Given the description of an element on the screen output the (x, y) to click on. 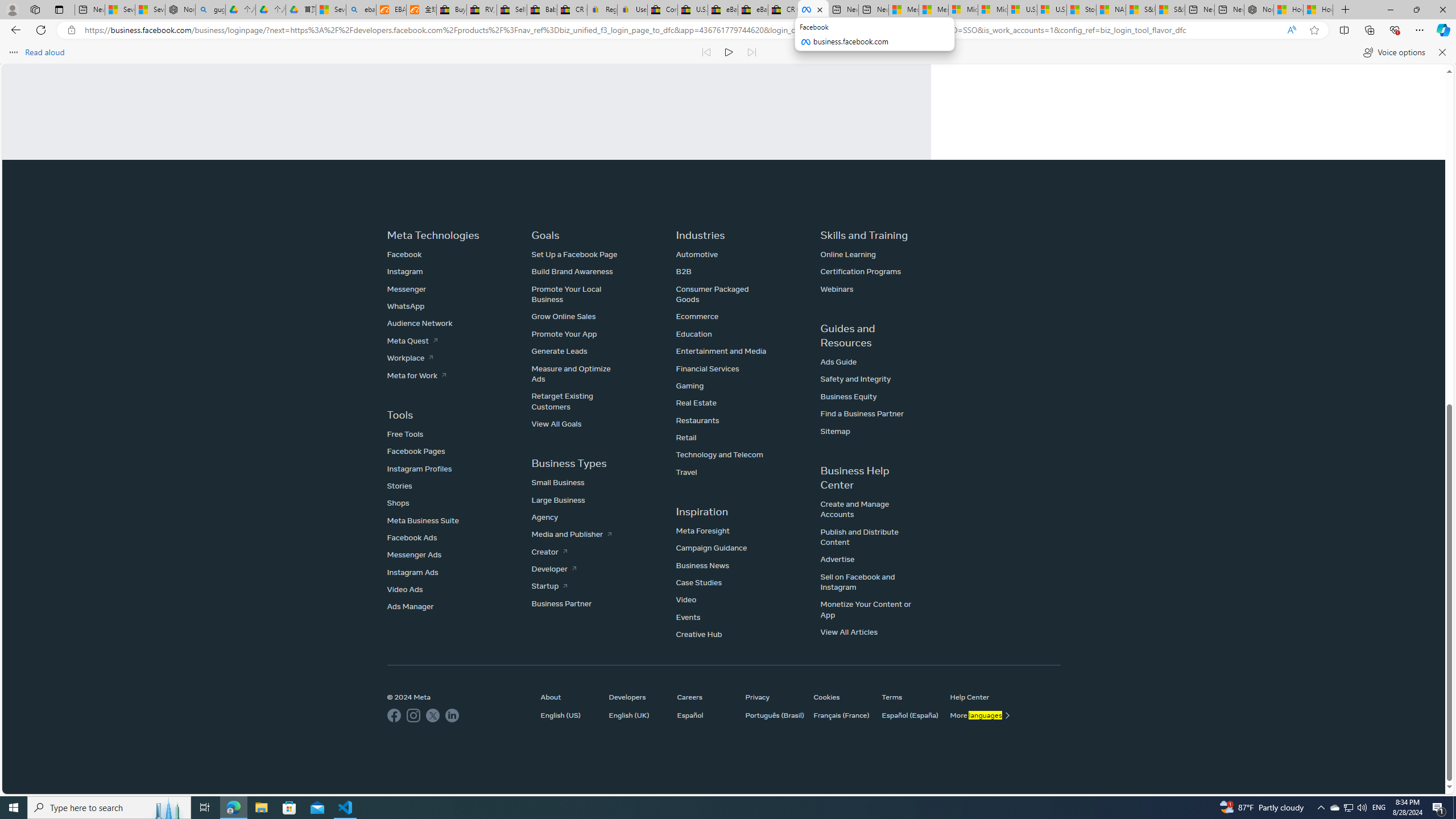
View All Goals (556, 423)
Sitemap (834, 430)
Facebook (404, 253)
Messenger Ads (414, 554)
Education (693, 333)
Technology and Telecom (718, 454)
Safety and Integrity (855, 379)
WhatsApp (406, 306)
Video (686, 599)
Generate Leads (559, 351)
